Given the description of an element on the screen output the (x, y) to click on. 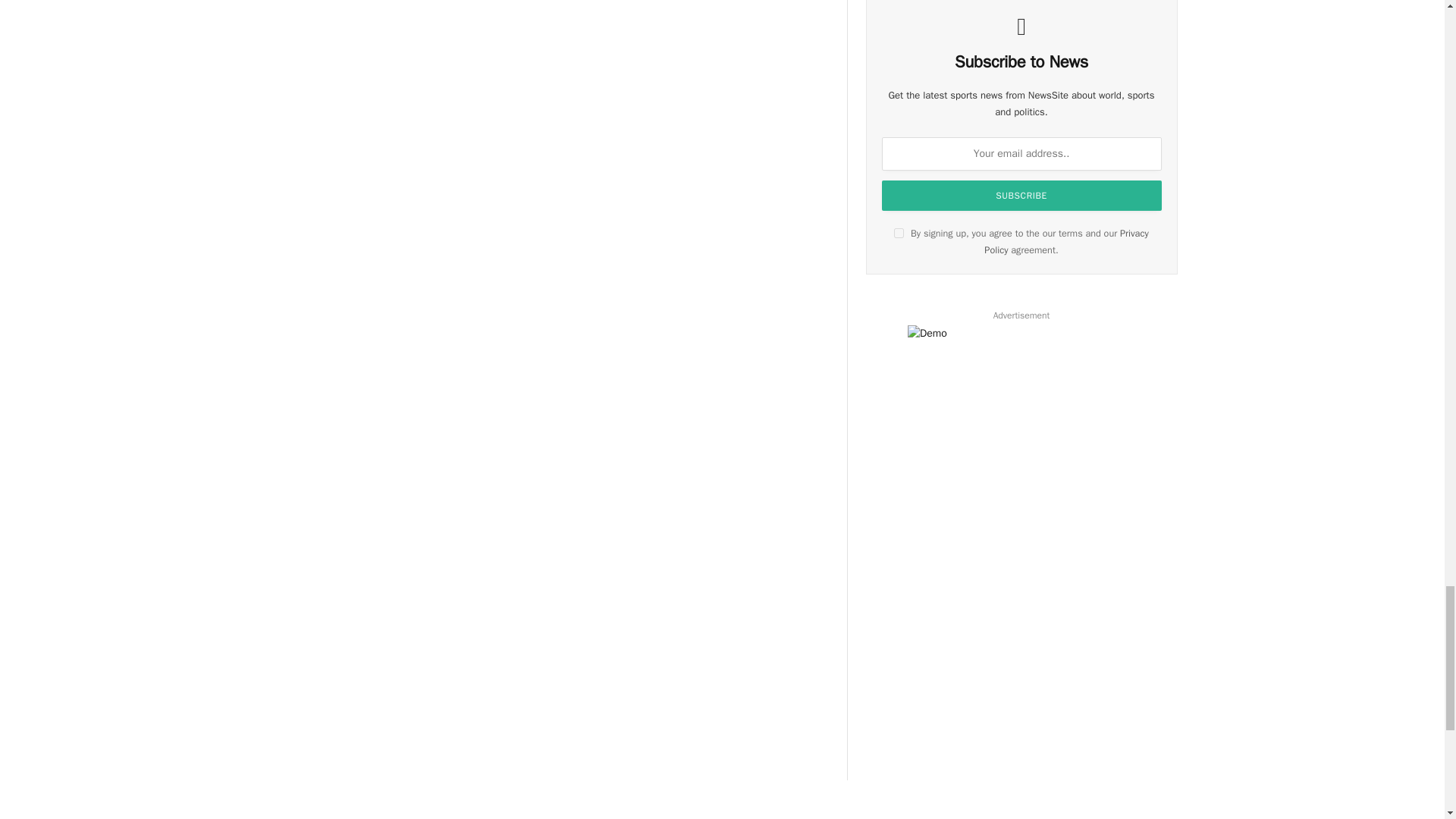
Subscribe (1021, 195)
on (898, 233)
